Given the description of an element on the screen output the (x, y) to click on. 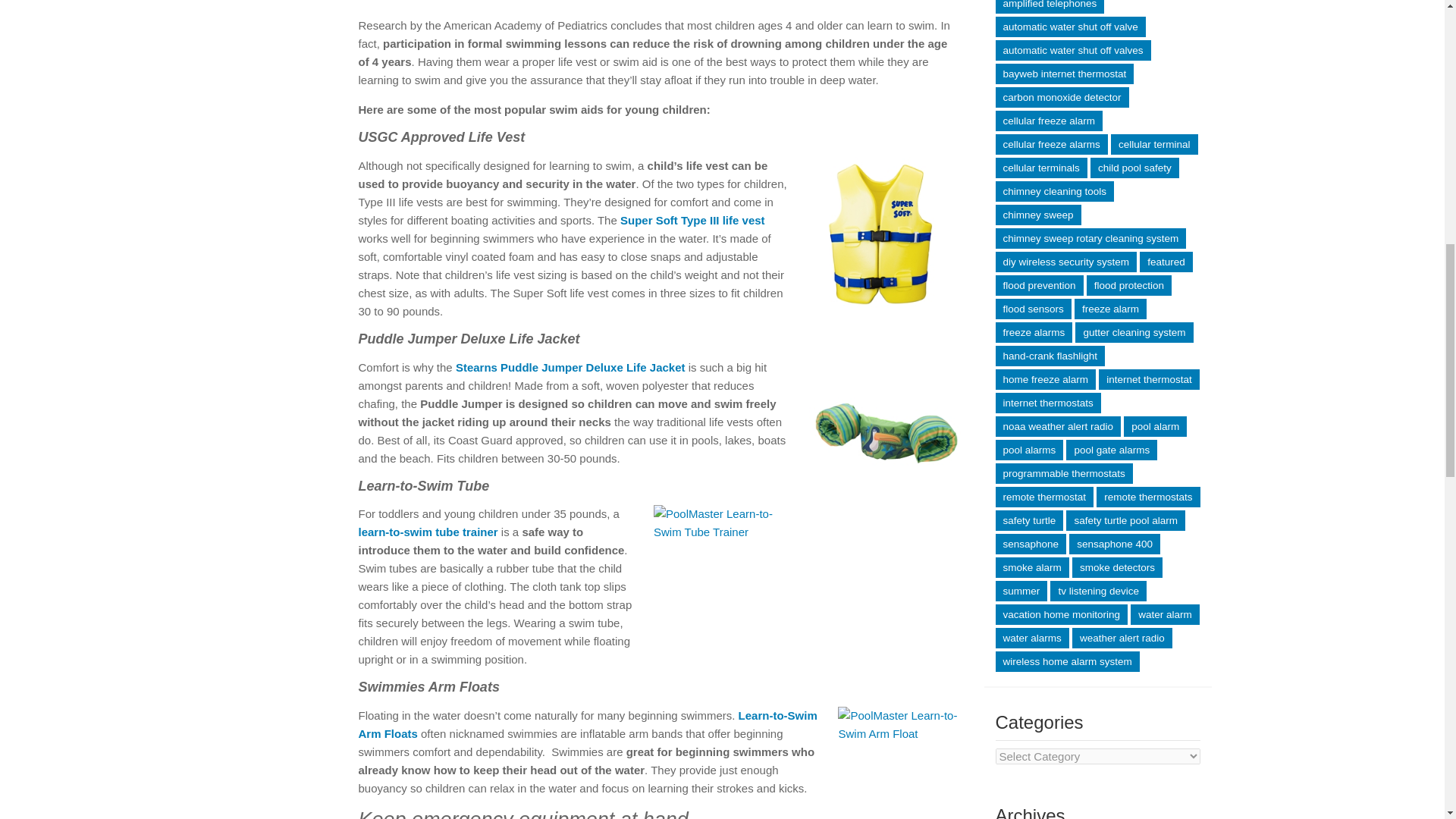
Learn-to-Swim Arm Floats (587, 724)
Super Soft Type III life vest (692, 219)
learn-to-swim tube trainer (427, 531)
Stearns Puddle Jumper Deluxe Life Jacket (570, 367)
